Given the description of an element on the screen output the (x, y) to click on. 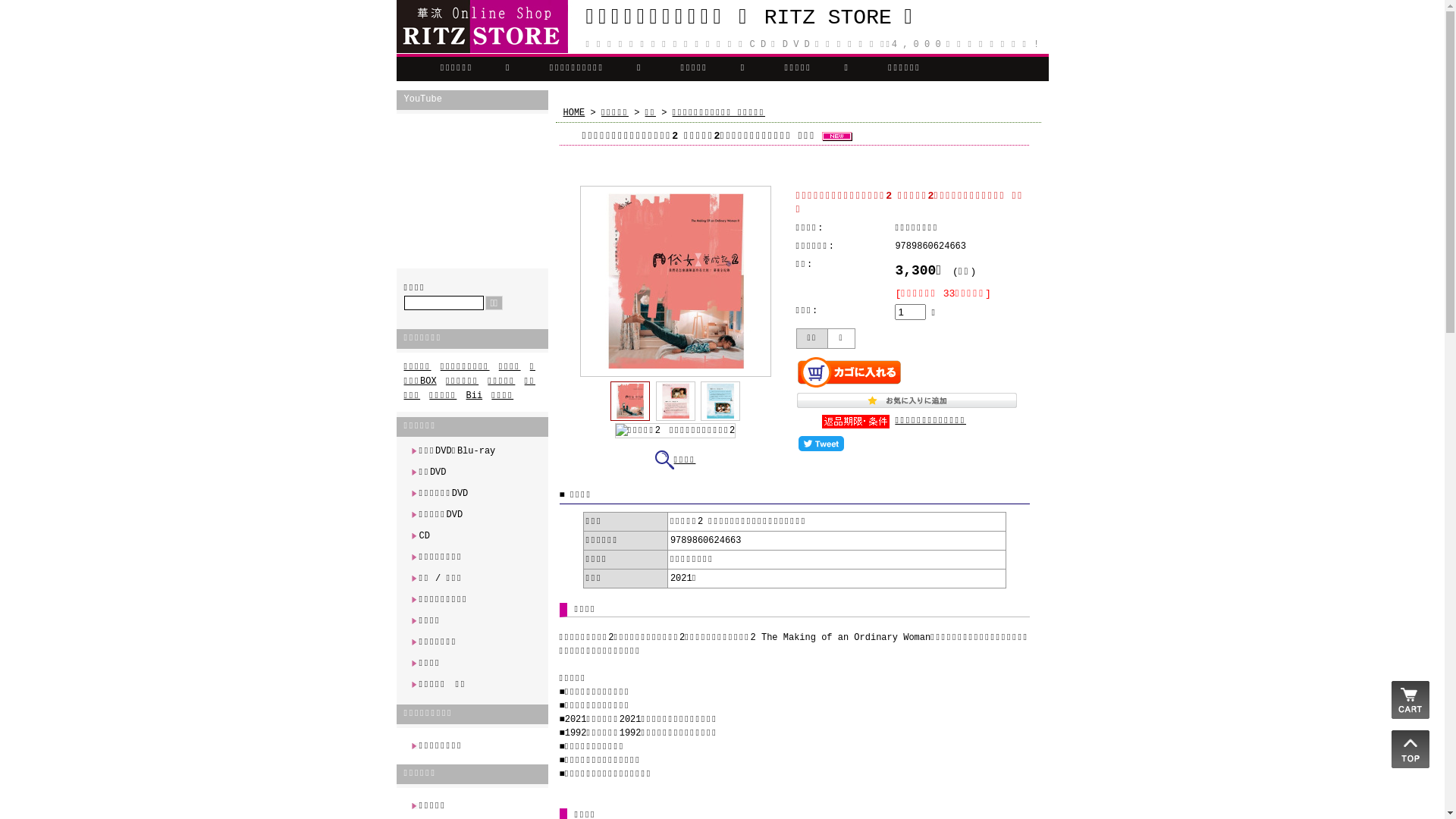
CD Element type: text (471, 535)
Bii Element type: text (474, 395)
HOME Element type: text (573, 112)
